Given the description of an element on the screen output the (x, y) to click on. 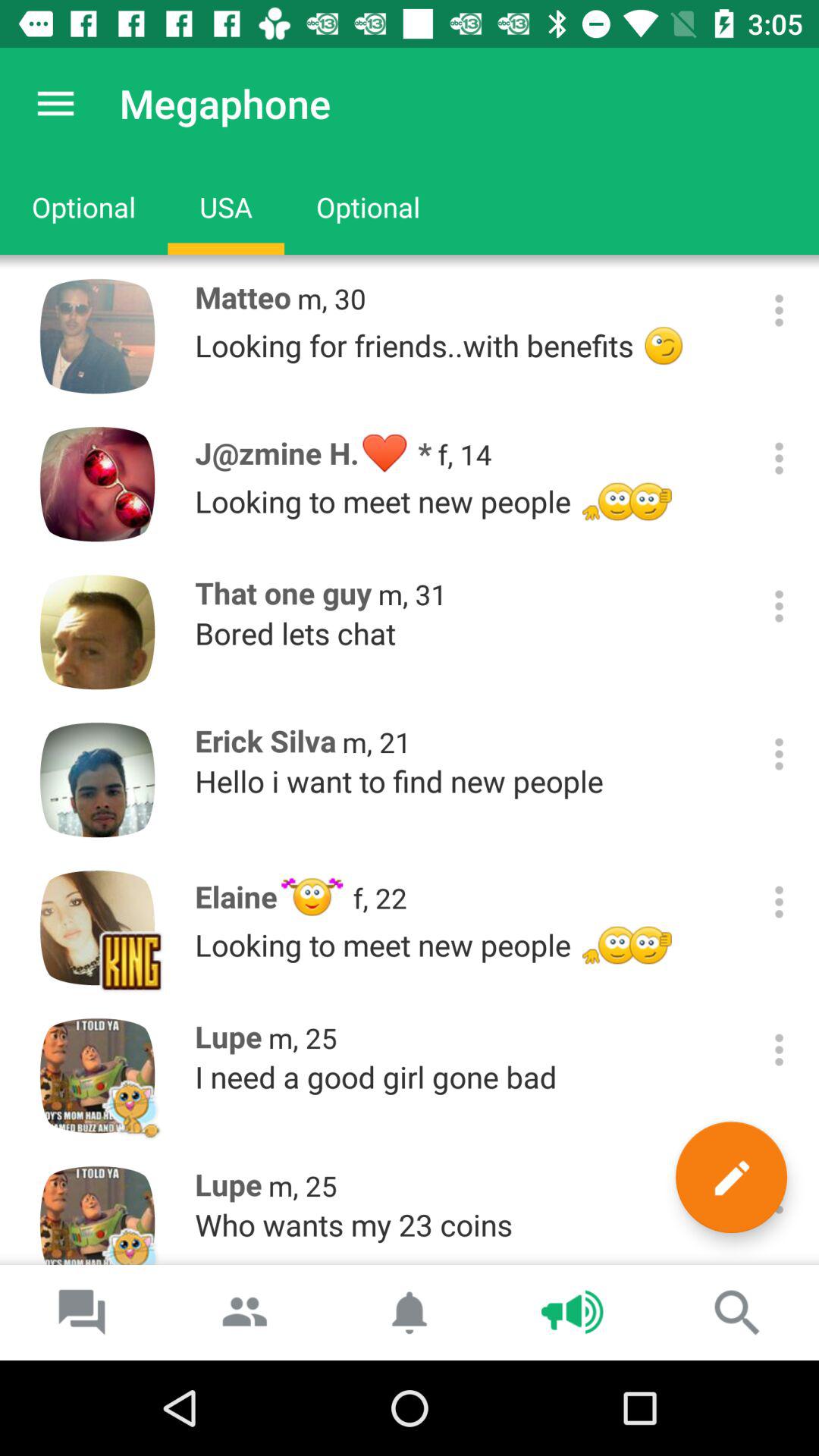
apps (779, 458)
